Given the description of an element on the screen output the (x, y) to click on. 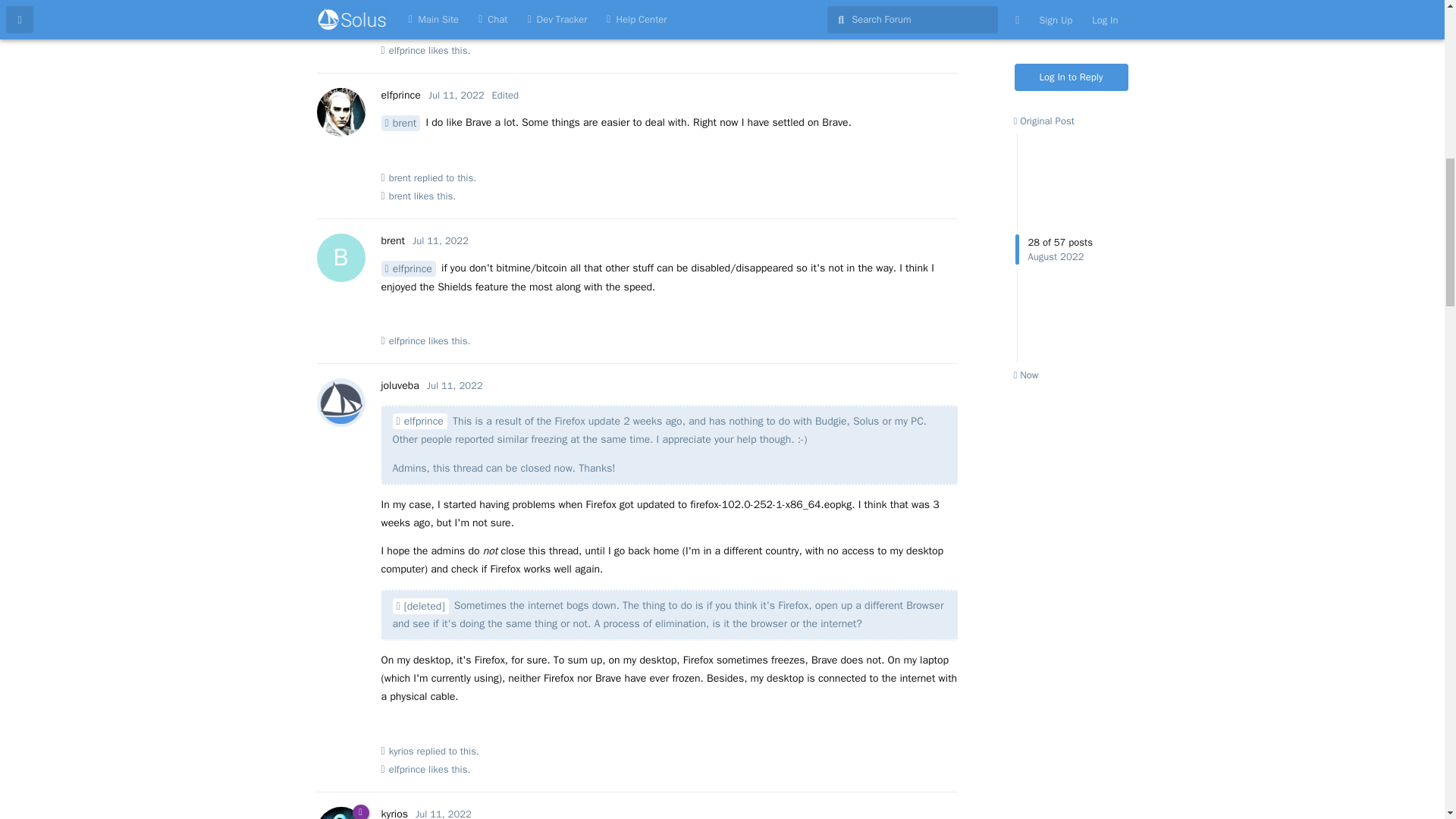
Monday, July 11, 2022 6:33 AM (440, 240)
Monday, July 11, 2022 4:13 AM (456, 94)
Monday, July 11, 2022 6:58 PM (454, 385)
Monday, July 11, 2022 8:49 PM (442, 813)
